Given the description of an element on the screen output the (x, y) to click on. 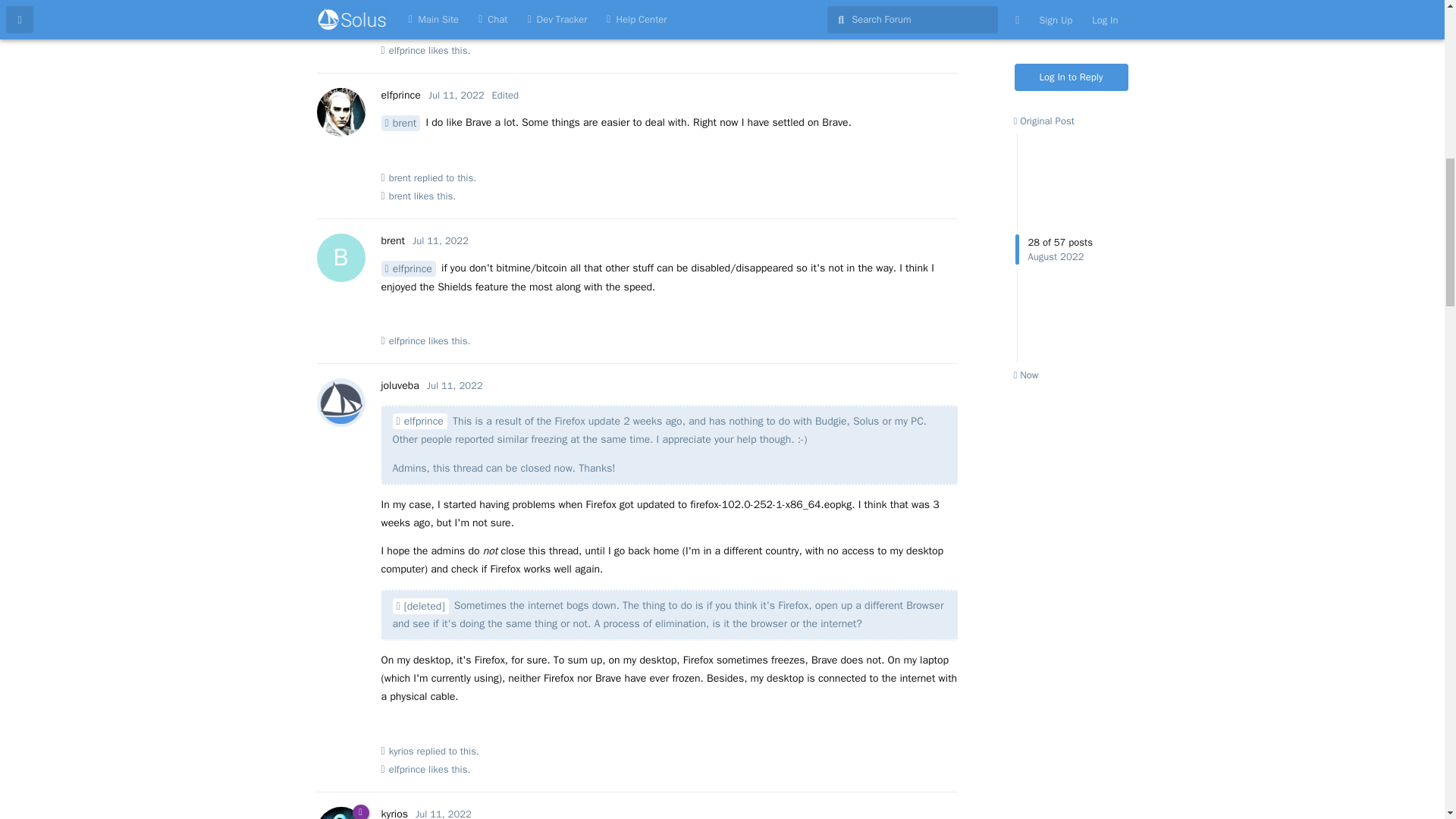
Monday, July 11, 2022 6:33 AM (440, 240)
Monday, July 11, 2022 4:13 AM (456, 94)
Monday, July 11, 2022 6:58 PM (454, 385)
Monday, July 11, 2022 8:49 PM (442, 813)
